Given the description of an element on the screen output the (x, y) to click on. 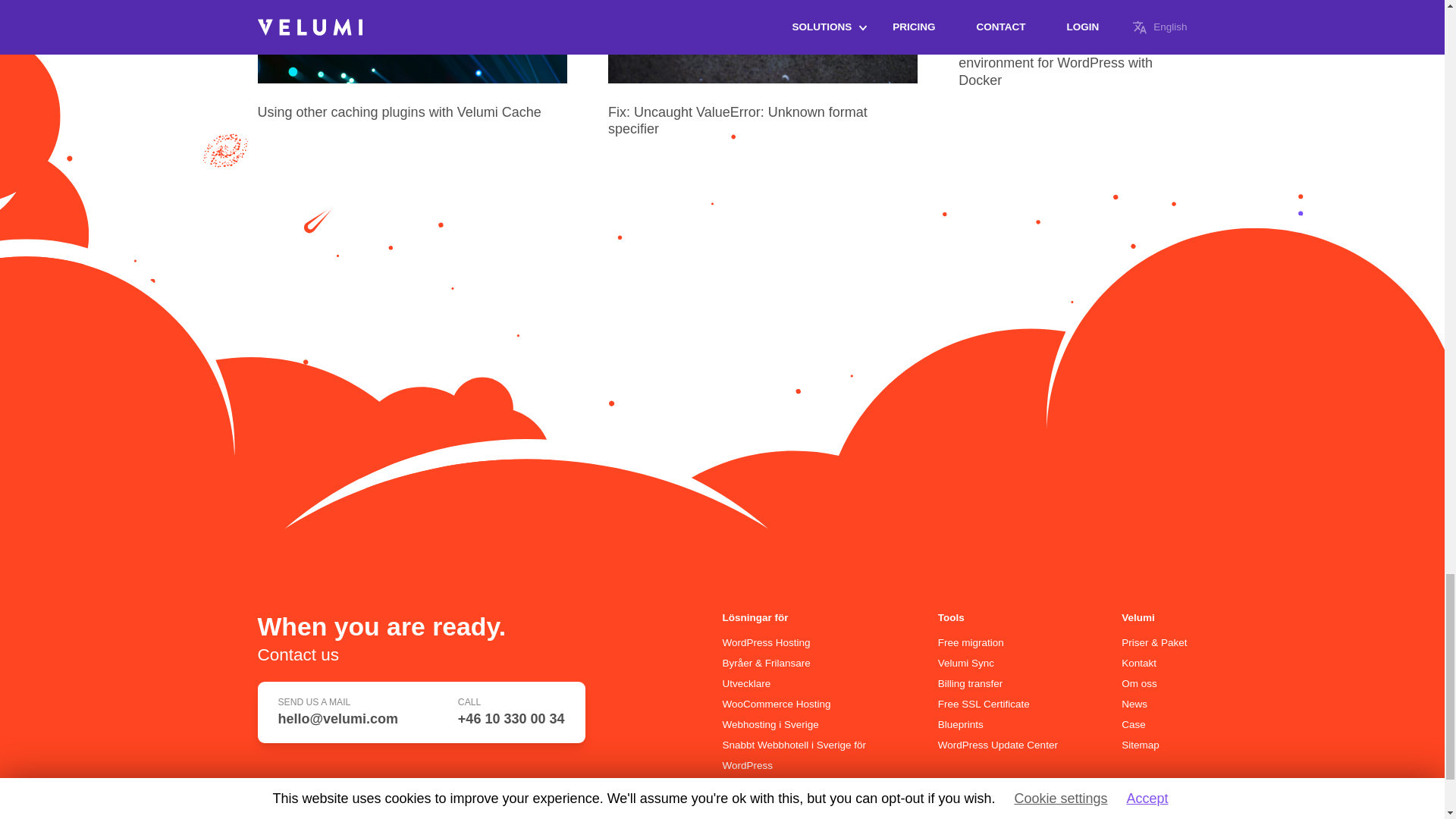
Case (1133, 724)
Velumi Sync (965, 663)
WordPress Update Center (997, 745)
News (1134, 704)
Utvecklare (746, 683)
Kontakt (1138, 663)
Billing transfer (970, 683)
Webhosting i Sverige (770, 724)
Free migration (970, 642)
Fix: Uncaught ValueError: Unknown format specifier (737, 120)
Free SSL Certificate (983, 704)
Using other caching plugins with Velumi Cache (399, 111)
WordPress Hosting (765, 642)
Blueprints (960, 724)
